Given the description of an element on the screen output the (x, y) to click on. 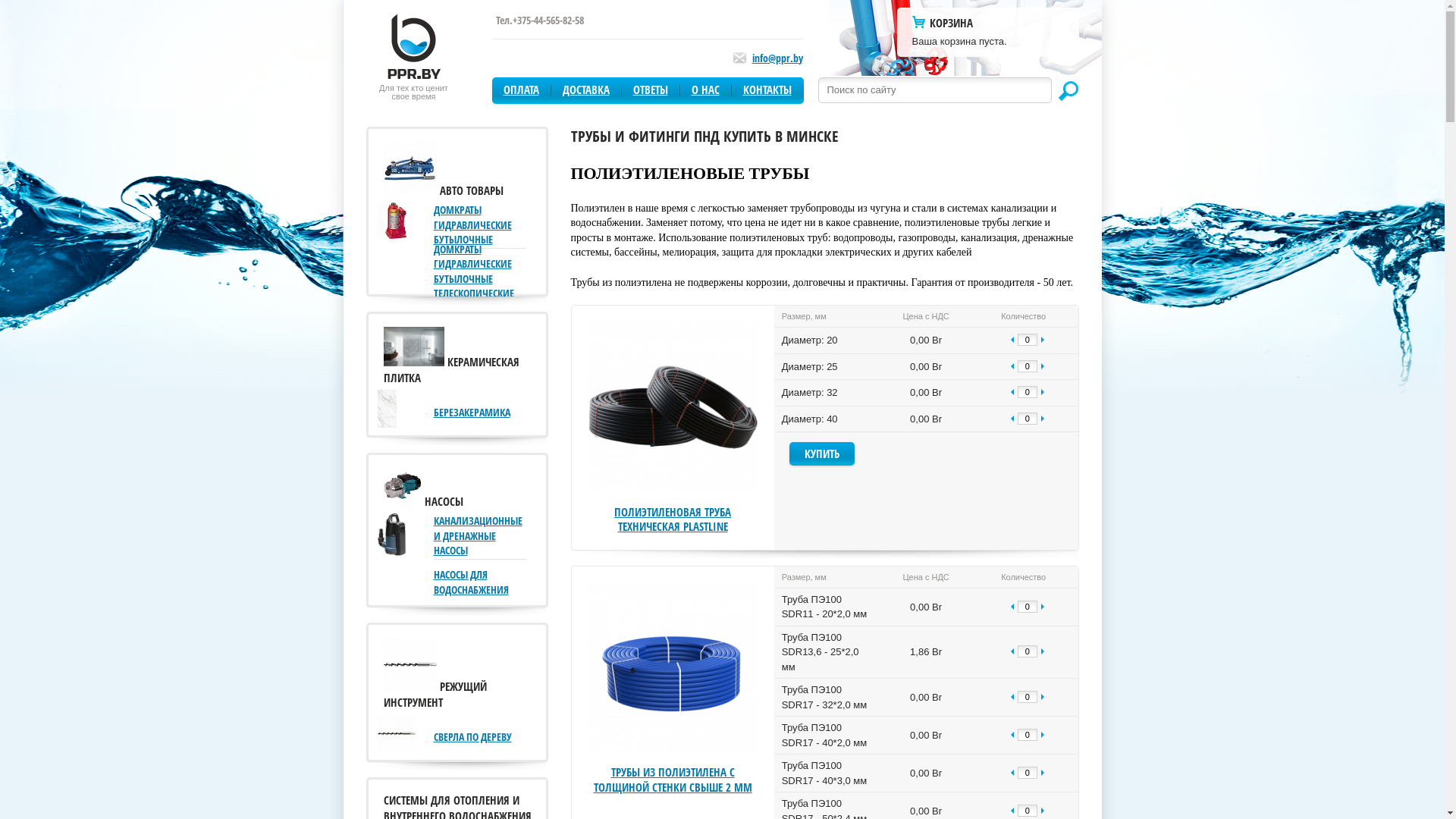
- Element type: text (1012, 735)
- Element type: text (1012, 773)
- Element type: text (1012, 607)
+ Element type: text (1042, 419)
+ Element type: text (1042, 392)
- Element type: text (1012, 366)
+ Element type: text (1042, 735)
- Element type: text (1012, 392)
+ Element type: text (1042, 607)
+ Element type: text (1042, 340)
- Element type: text (1012, 419)
+ Element type: text (1042, 652)
+ Element type: text (1042, 773)
+ Element type: text (1042, 697)
- Element type: text (1012, 340)
- Element type: text (1012, 697)
- Element type: text (1012, 652)
info@ppr.by Element type: text (777, 57)
+ Element type: text (1042, 366)
